Given the description of an element on the screen output the (x, y) to click on. 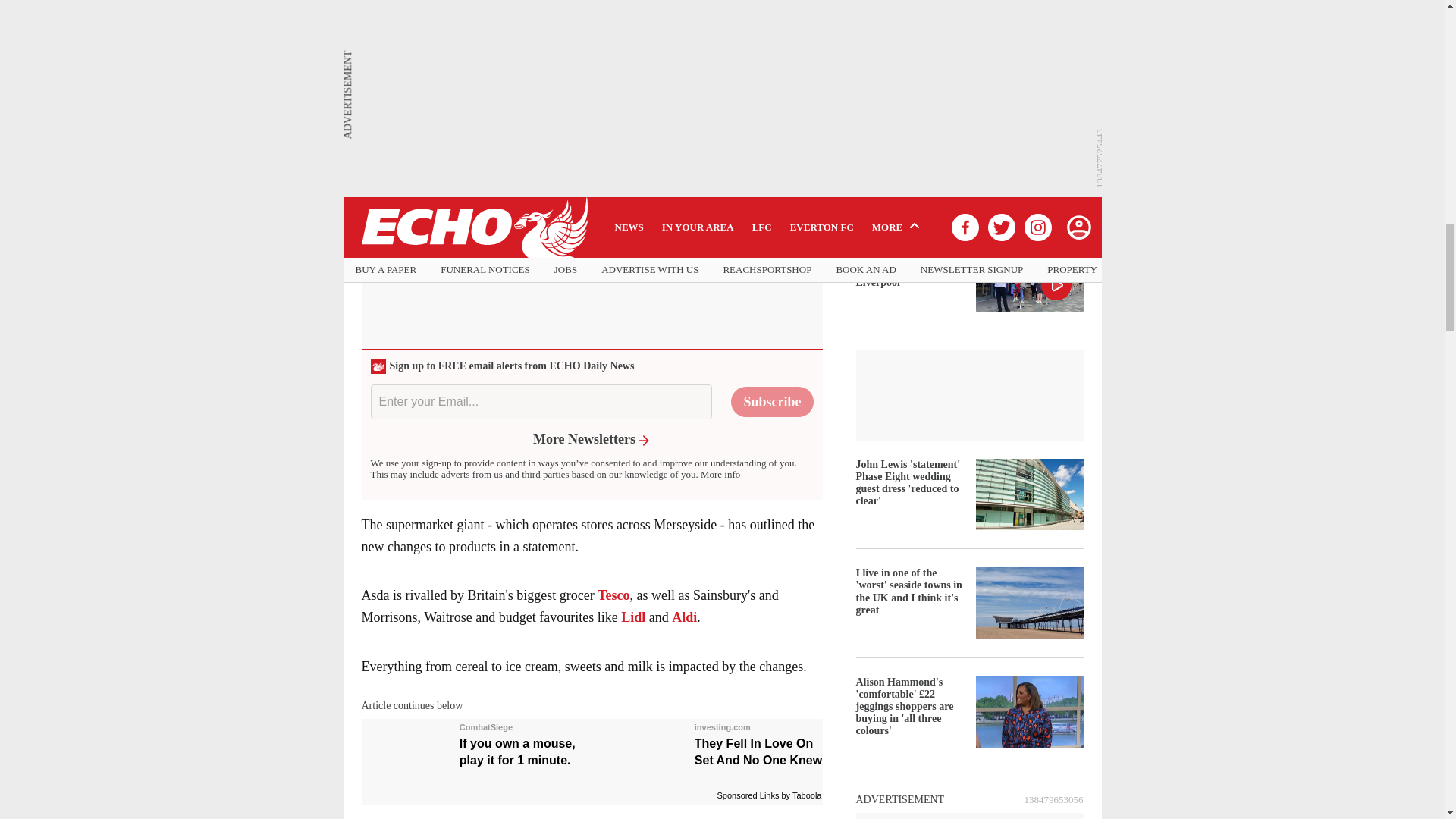
They Fell In Love On Set And No One Knew (709, 744)
If you own a mouse, play it for 1 minute. (474, 744)
